Given the description of an element on the screen output the (x, y) to click on. 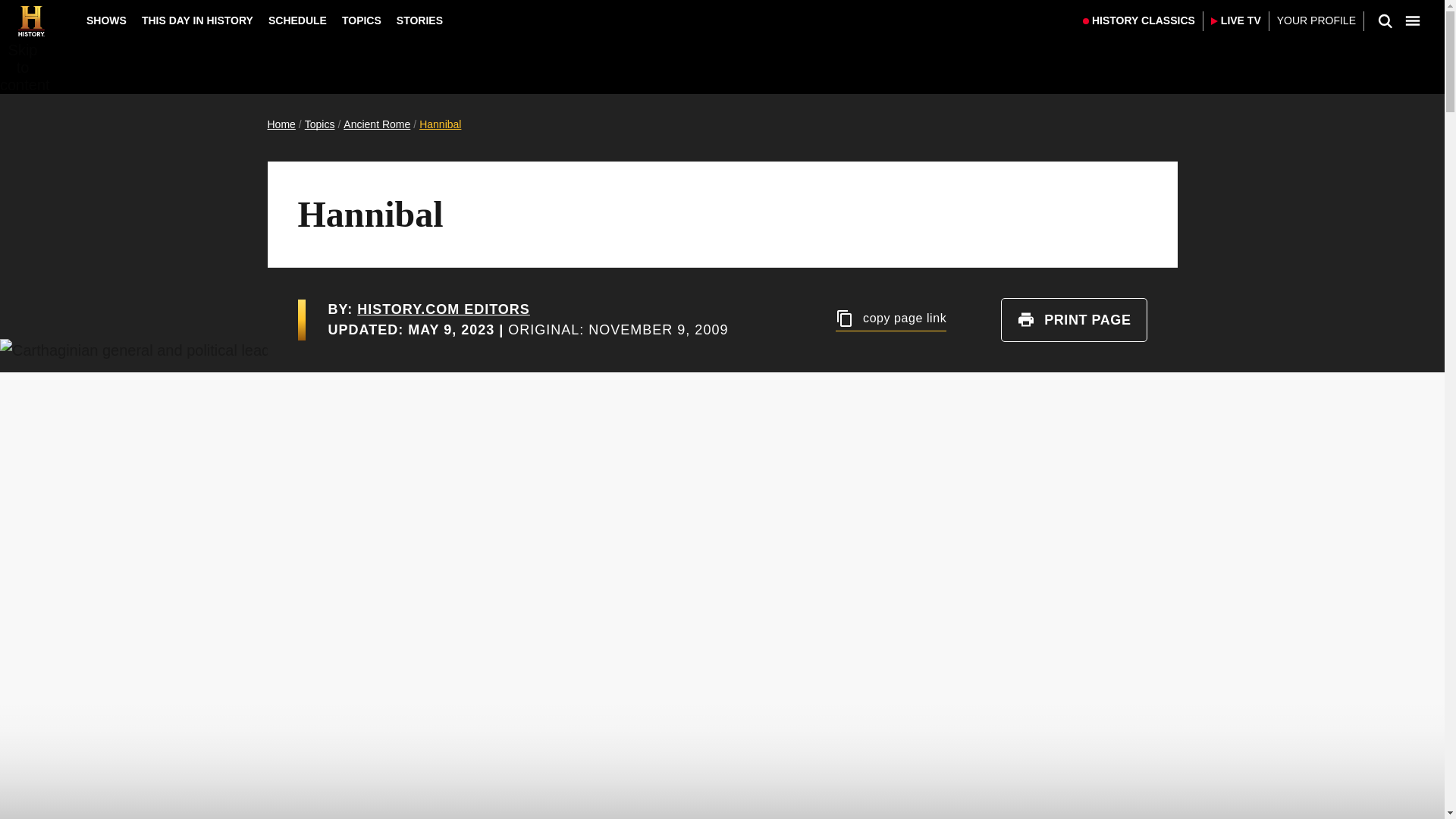
Ancient Rome (376, 123)
LIVE TV (1236, 20)
YOUR PROFILE (1315, 21)
STORIES (418, 20)
copy page link (890, 320)
HISTORY.COM EDITORS (442, 309)
Topics (319, 123)
SHOWS (105, 20)
Home (280, 123)
TOPICS (361, 20)
THIS DAY IN HISTORY (196, 20)
PRINT PAGE (1074, 320)
SCHEDULE (297, 20)
HISTORY CLASSICS (1138, 20)
Print (1025, 320)
